Given the description of an element on the screen output the (x, y) to click on. 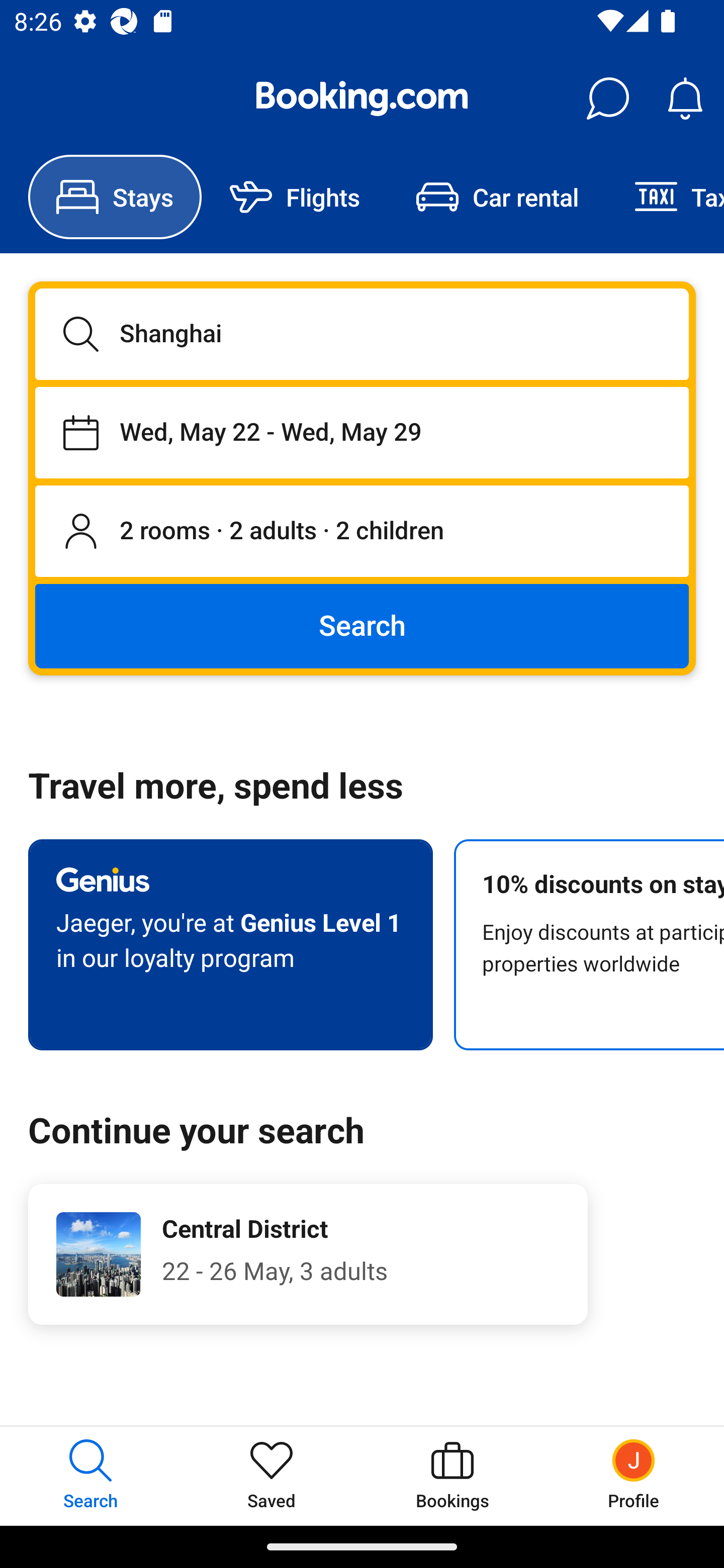
Messages (607, 98)
Notifications (685, 98)
Stays (114, 197)
Flights (294, 197)
Car rental (497, 197)
Taxi (665, 197)
Shanghai (361, 333)
Staying from Wed, May 22 until Wed, May 29 (361, 432)
2 rooms, 2 adults, 2 children (361, 531)
Search (361, 625)
Central District 22 - 26 May, 3 adults (307, 1253)
Saved (271, 1475)
Bookings (452, 1475)
Profile (633, 1475)
